Given the description of an element on the screen output the (x, y) to click on. 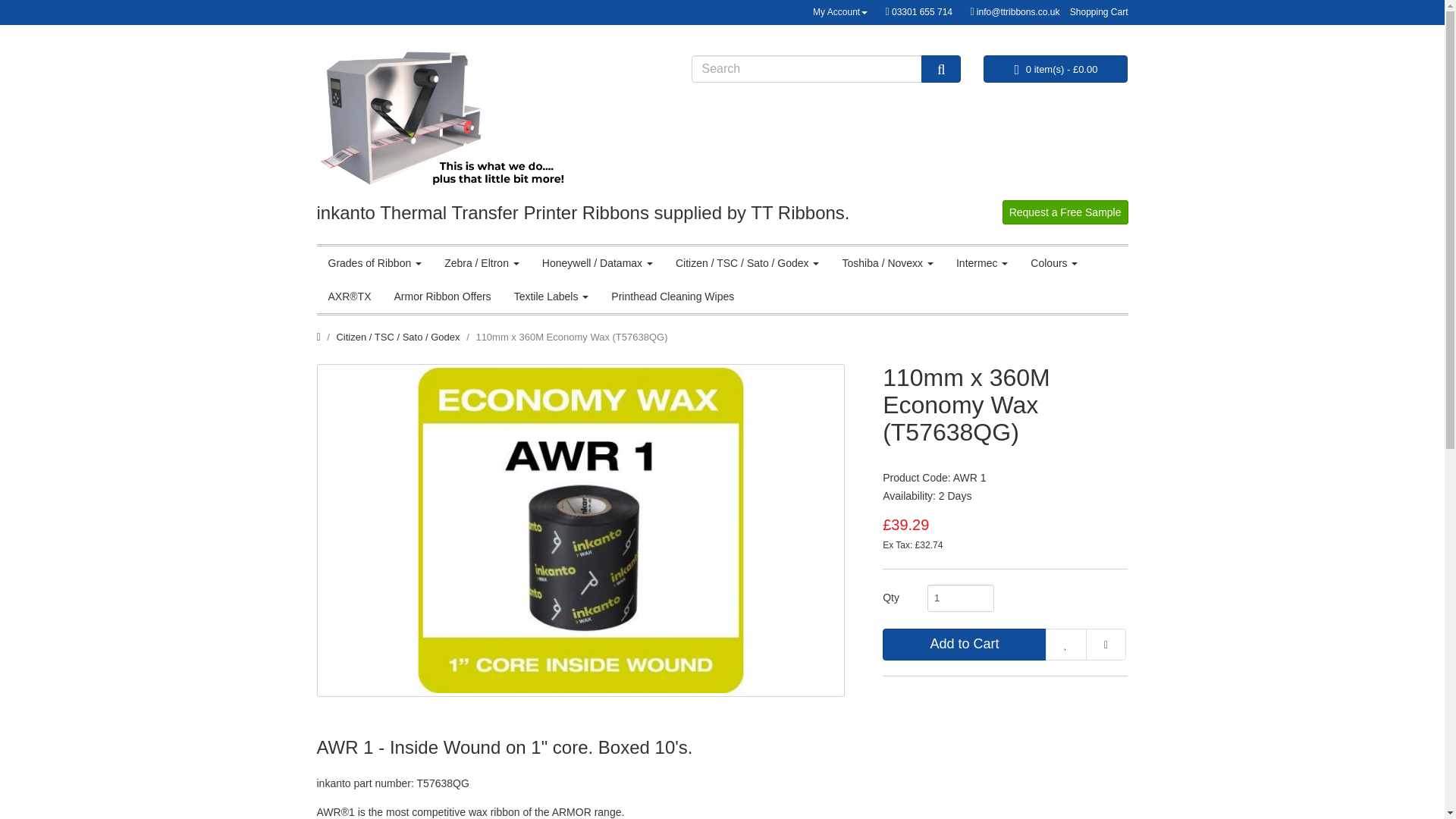
Colours (1054, 263)
Intermec (981, 263)
1 (960, 597)
Shopping Cart (1099, 11)
My Account (839, 11)
Request a Free Sample (1065, 211)
Grades of Ribbon (375, 263)
Shopping Cart (1099, 11)
TTRibbons (444, 122)
My Account (839, 11)
